Given the description of an element on the screen output the (x, y) to click on. 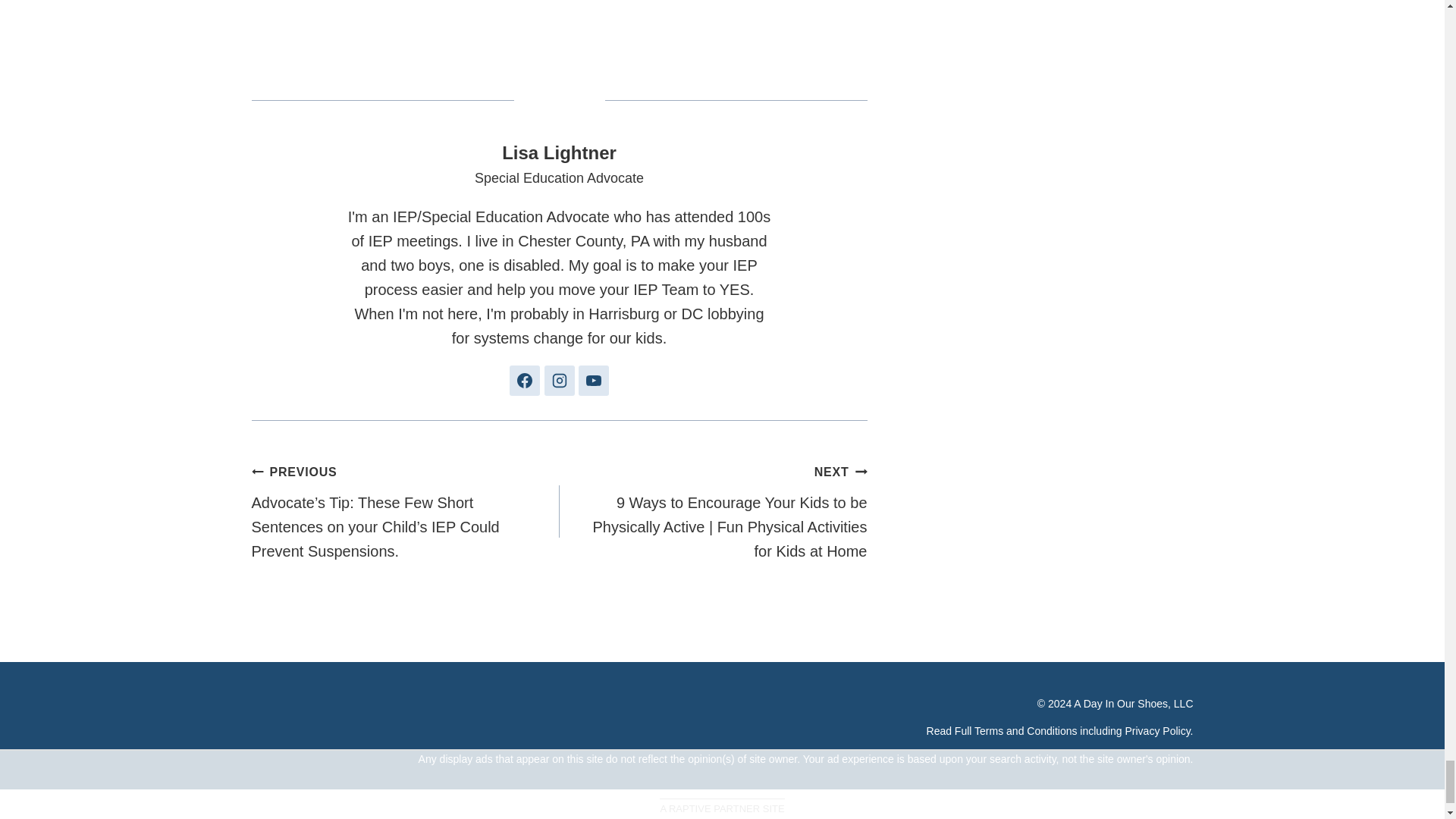
Follow Lisa Lightner on Instagram (559, 380)
Follow Lisa Lightner on Youtube (593, 380)
Posts by Lisa Lightner (558, 152)
Follow Lisa Lightner on Facebook (524, 380)
